Given the description of an element on the screen output the (x, y) to click on. 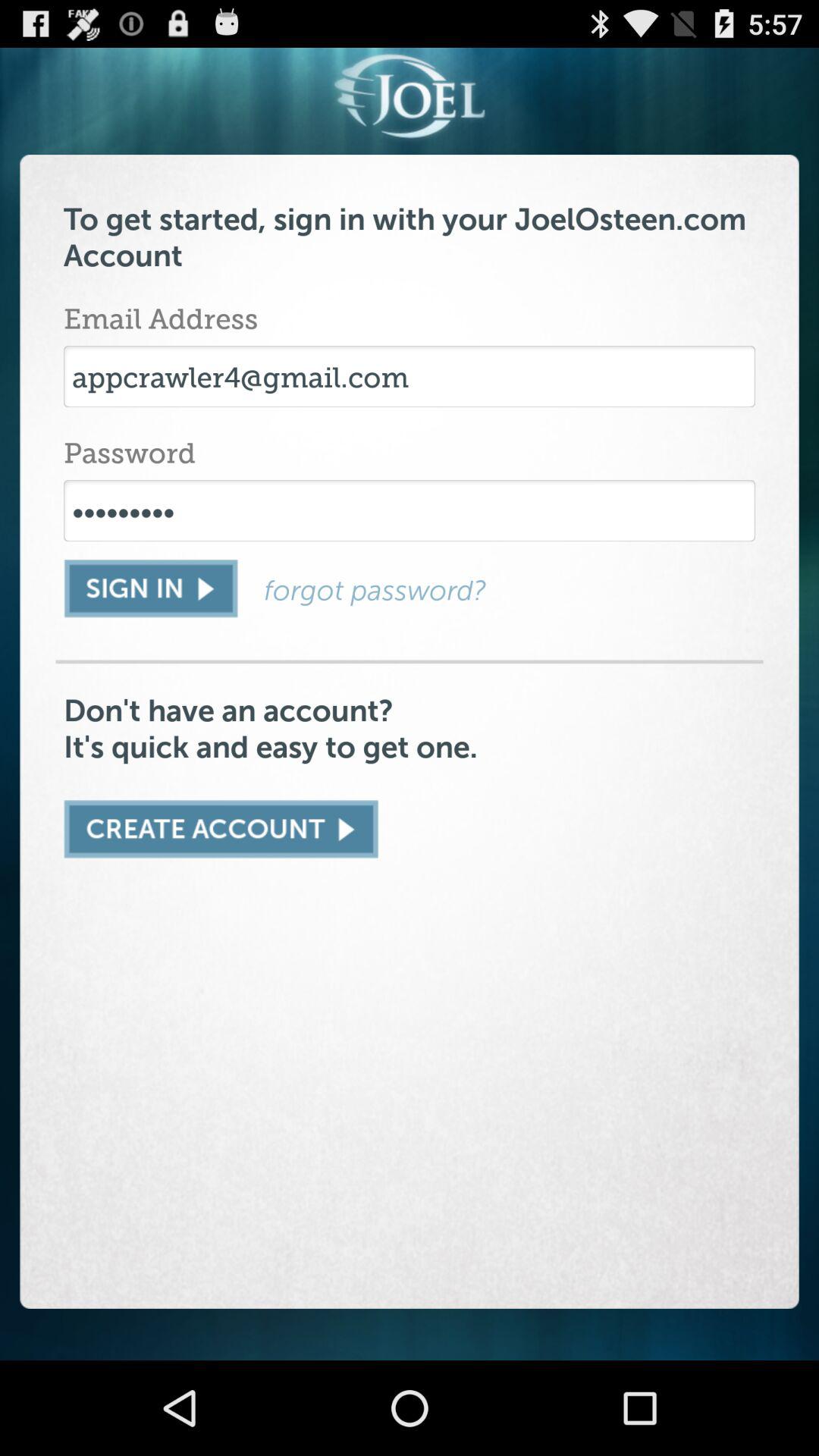
turn on item above the password app (409, 376)
